Given the description of an element on the screen output the (x, y) to click on. 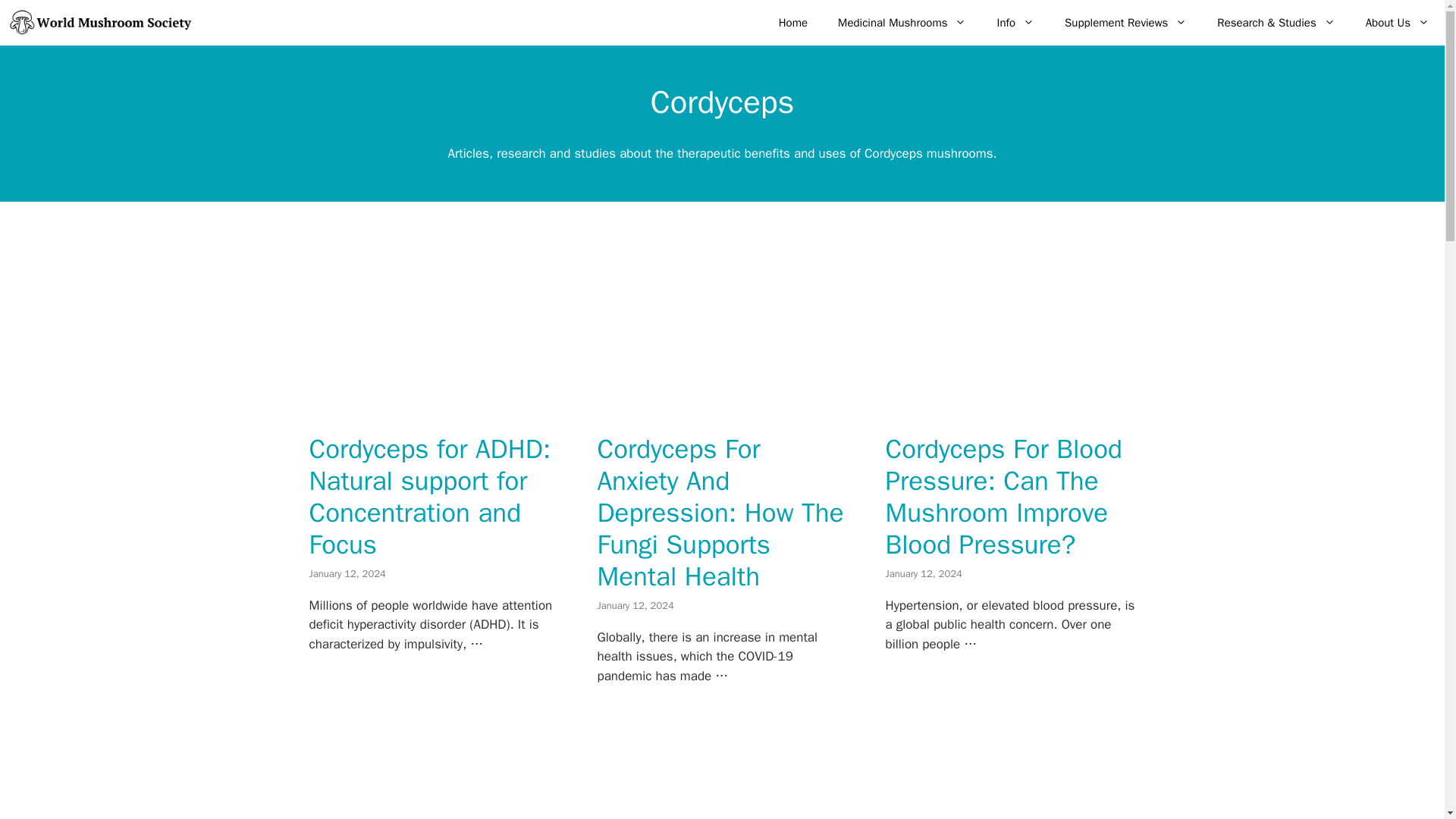
World Mushroom Society (100, 22)
Supplement Reviews (1125, 22)
Info (1015, 22)
Medicinal Mushrooms (901, 22)
Home (792, 22)
